Given the description of an element on the screen output the (x, y) to click on. 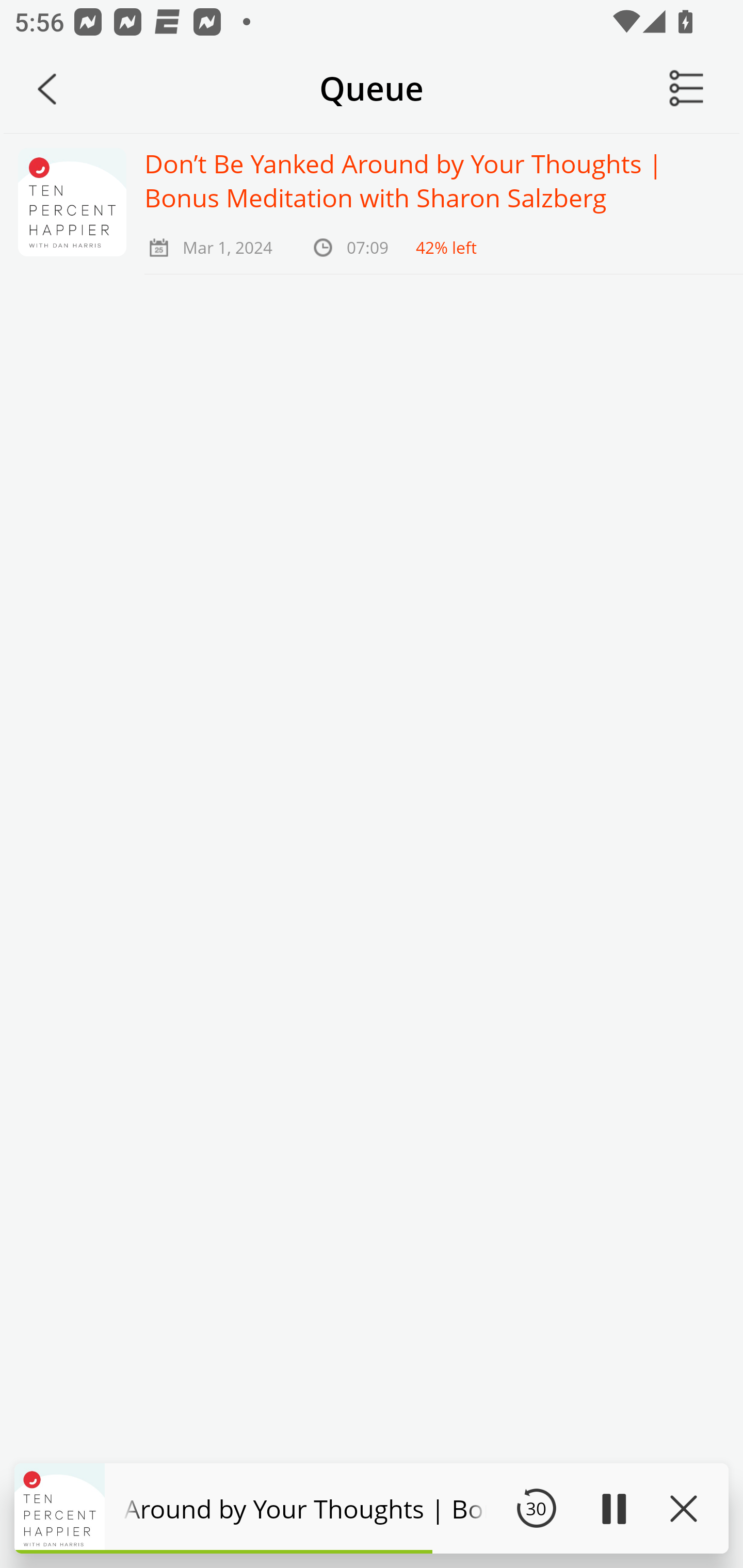
Back (46, 88)
Play (613, 1507)
30 Seek Backward (536, 1508)
